Given the description of an element on the screen output the (x, y) to click on. 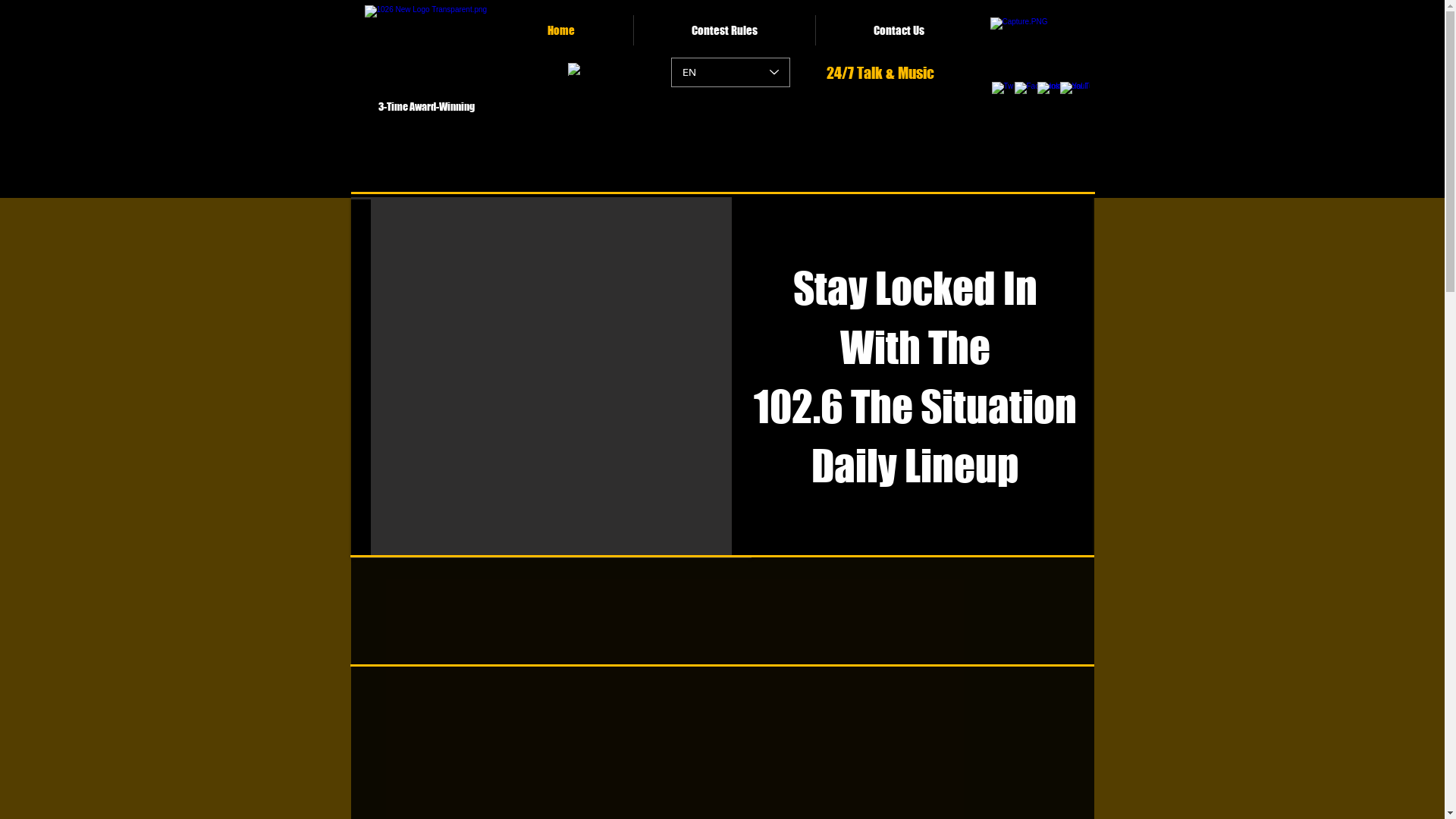
Contact Us Element type: text (898, 30)
Home Element type: text (561, 30)
Embedded Content Element type: hover (721, 611)
Embedded Content Element type: hover (429, 156)
Contest Rules Element type: text (724, 30)
Embedded Content Element type: hover (750, 153)
